Given the description of an element on the screen output the (x, y) to click on. 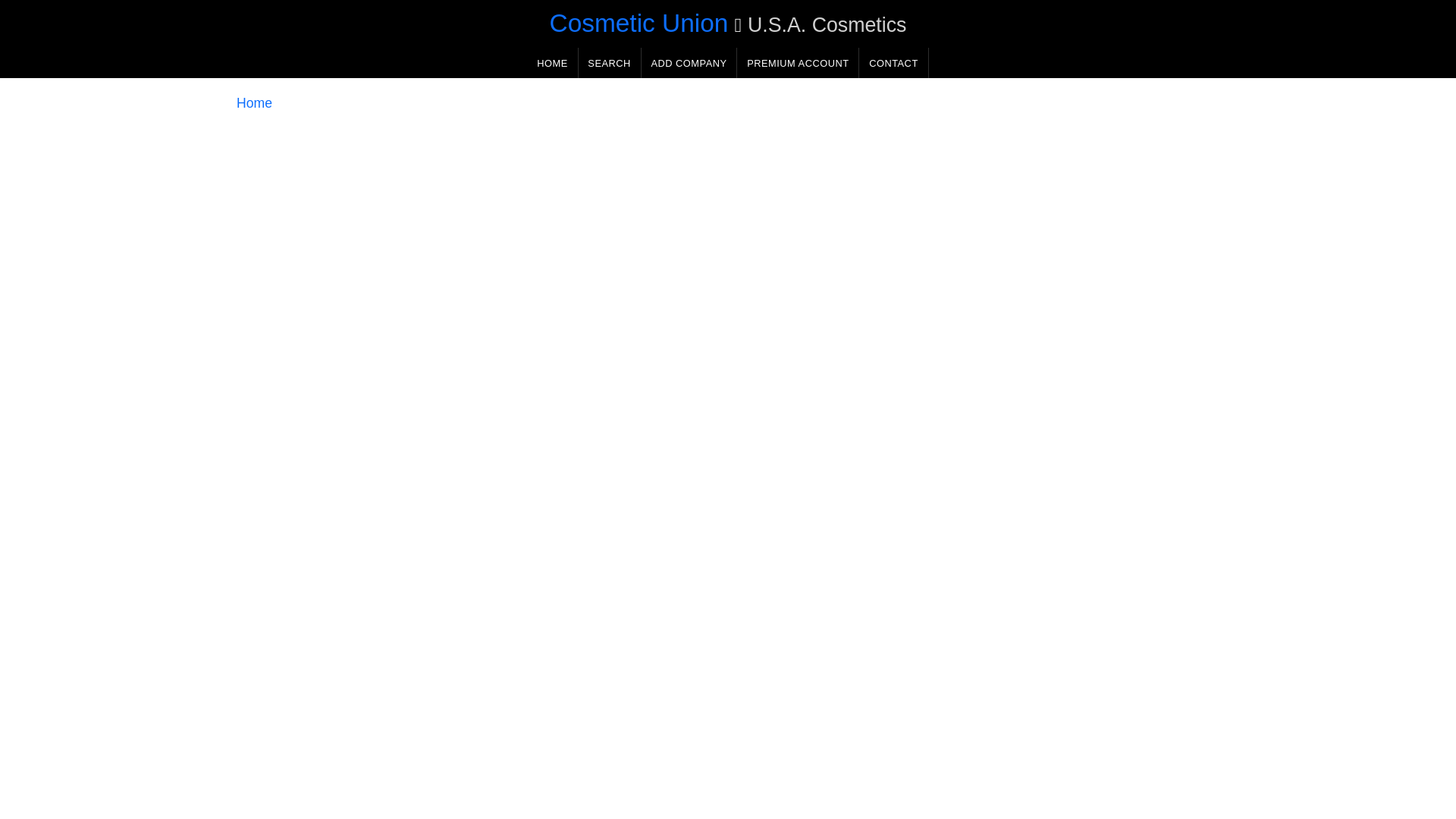
HOME (551, 62)
CONTACT (893, 62)
ADD COMPANY (689, 62)
SEARCH (609, 62)
Home (253, 102)
Premium account (797, 62)
Search in this webseite. (609, 62)
PREMIUM ACCOUNT (797, 62)
Cosmetic Union (638, 22)
